Given the description of an element on the screen output the (x, y) to click on. 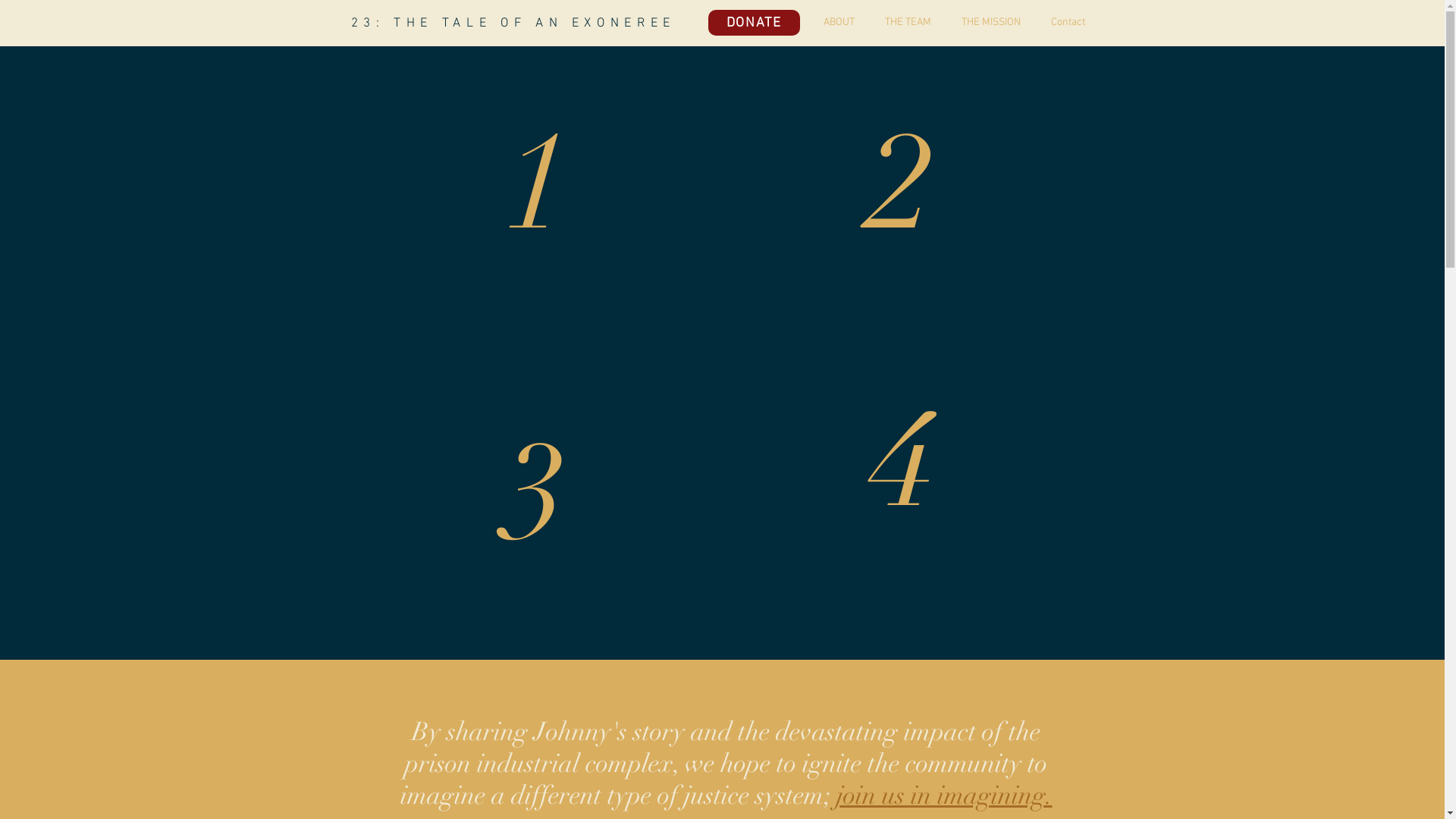
join us in imagining. Element type: text (943, 795)
DONATE Element type: text (754, 22)
THE MISSION Element type: text (983, 22)
Contact Element type: text (1060, 22)
ABOUT Element type: text (830, 22)
THE TEAM Element type: text (899, 22)
23: THE TALE OF AN EXONEREE Element type: text (512, 23)
